Given the description of an element on the screen output the (x, y) to click on. 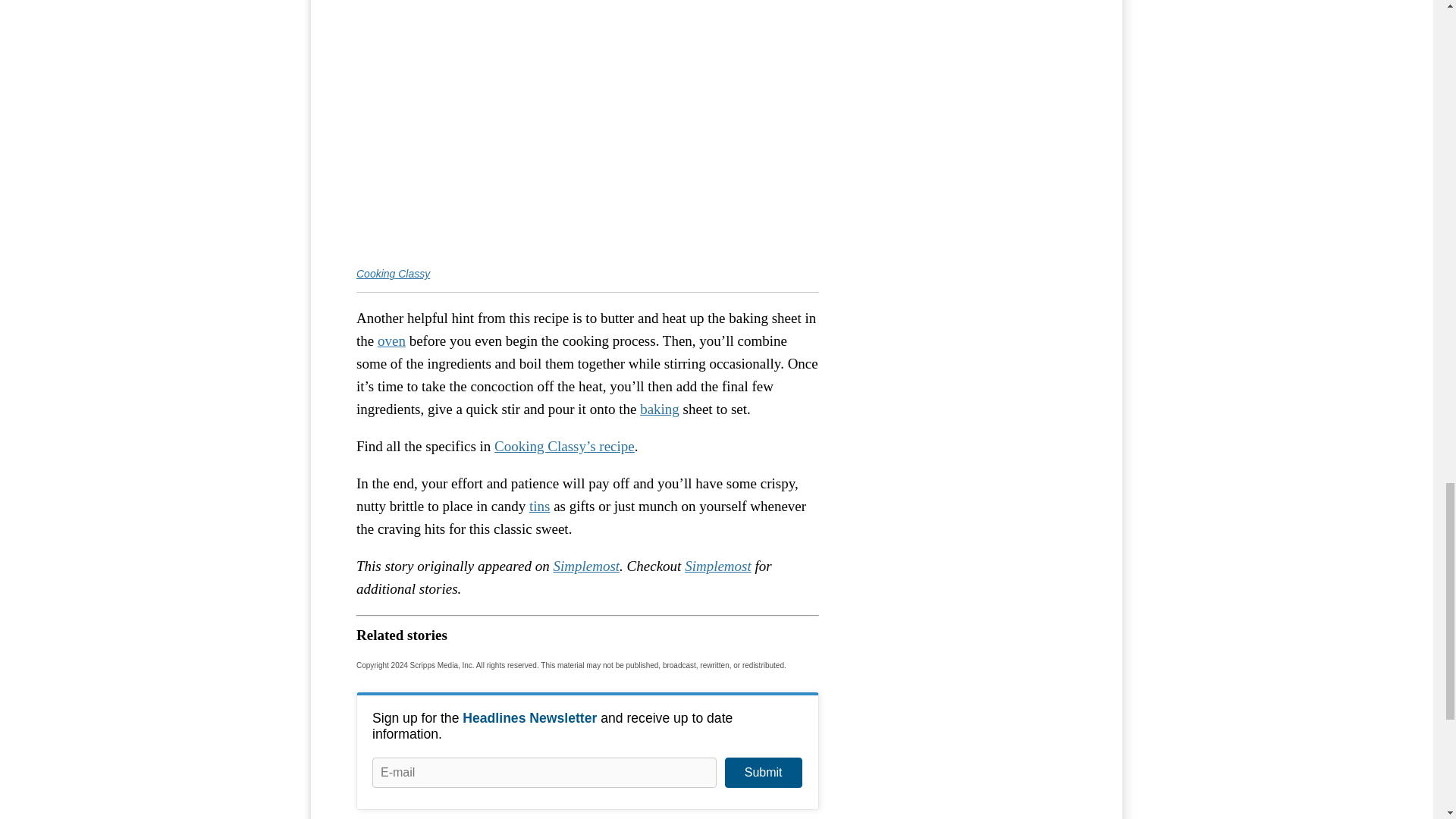
Submit (763, 772)
